Given the description of an element on the screen output the (x, y) to click on. 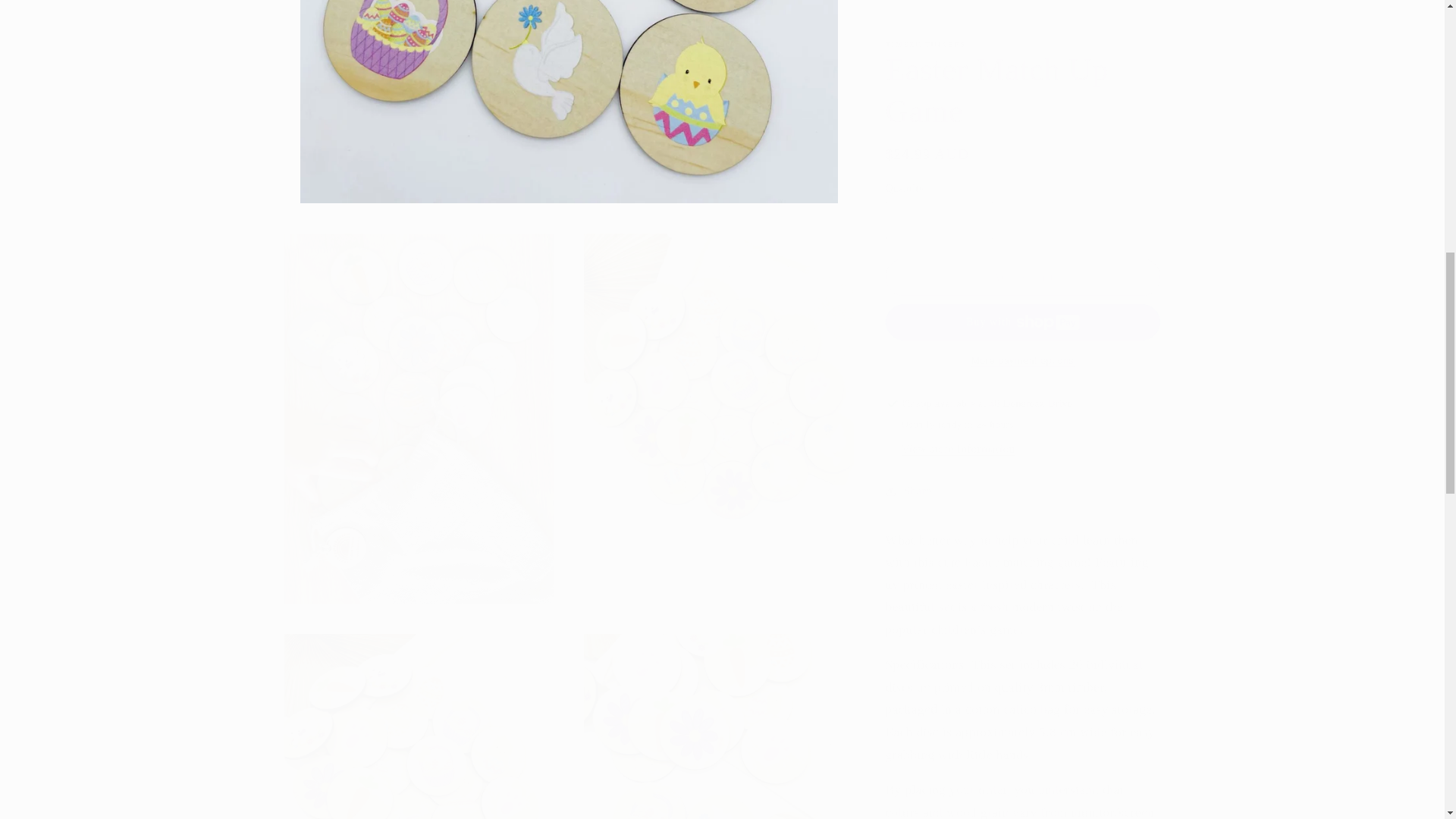
Open media 4 in modal (418, 718)
Open media 5 in modal (718, 718)
Open media 1 in modal (568, 93)
